Given the description of an element on the screen output the (x, y) to click on. 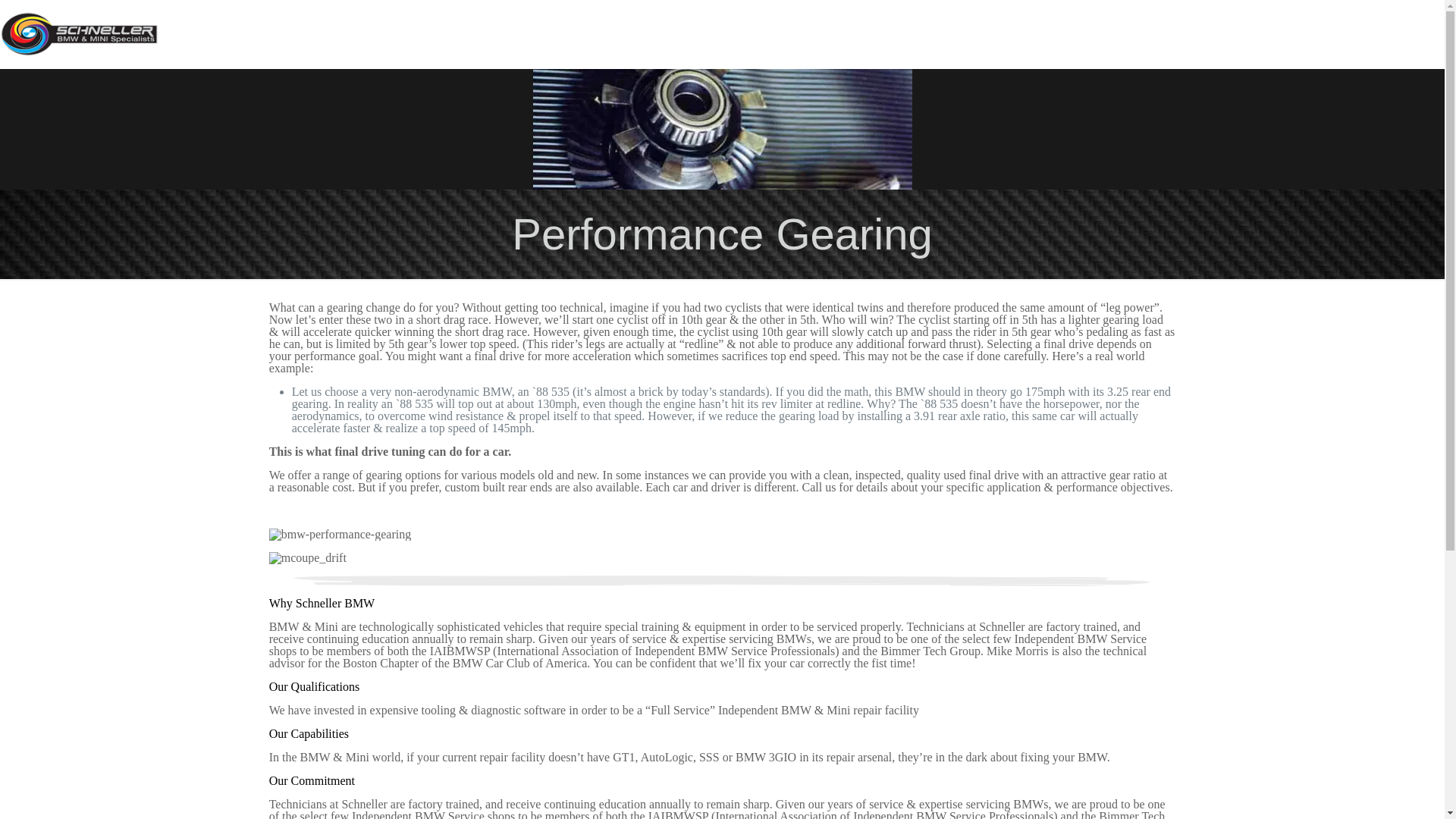
E30 Experts (1186, 33)
Our Commitment (312, 780)
Our Capabilities (309, 733)
Our Qualifications (314, 686)
Our Repair Warranty (1054, 33)
About Schneller (831, 33)
Performance (1292, 33)
Services (935, 33)
Home (734, 33)
